Given the description of an element on the screen output the (x, y) to click on. 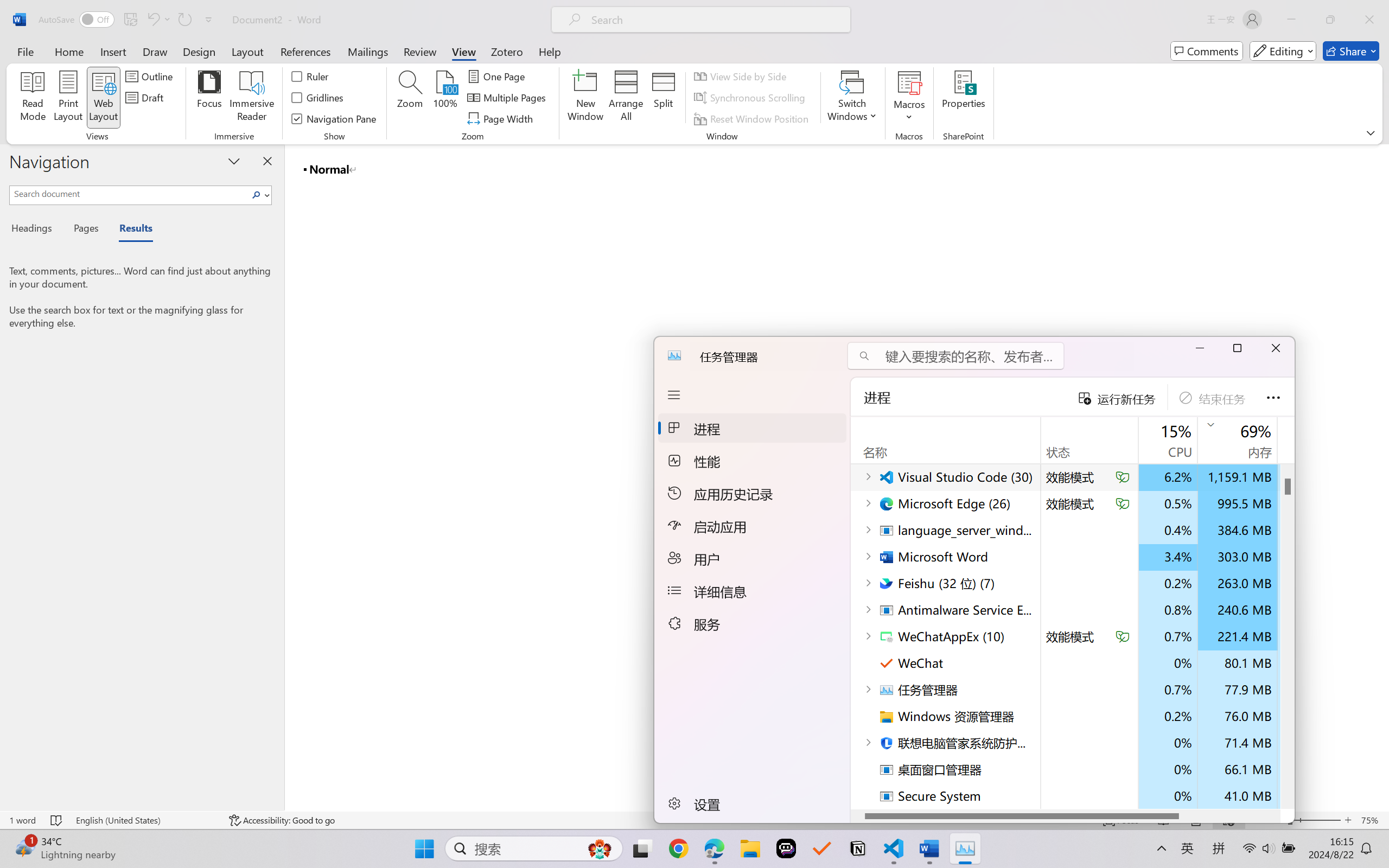
Synchronous Scrolling (751, 97)
Help (549, 51)
Poe (786, 848)
Class: MsoCommandBar (694, 72)
Pages (85, 229)
